Given the description of an element on the screen output the (x, y) to click on. 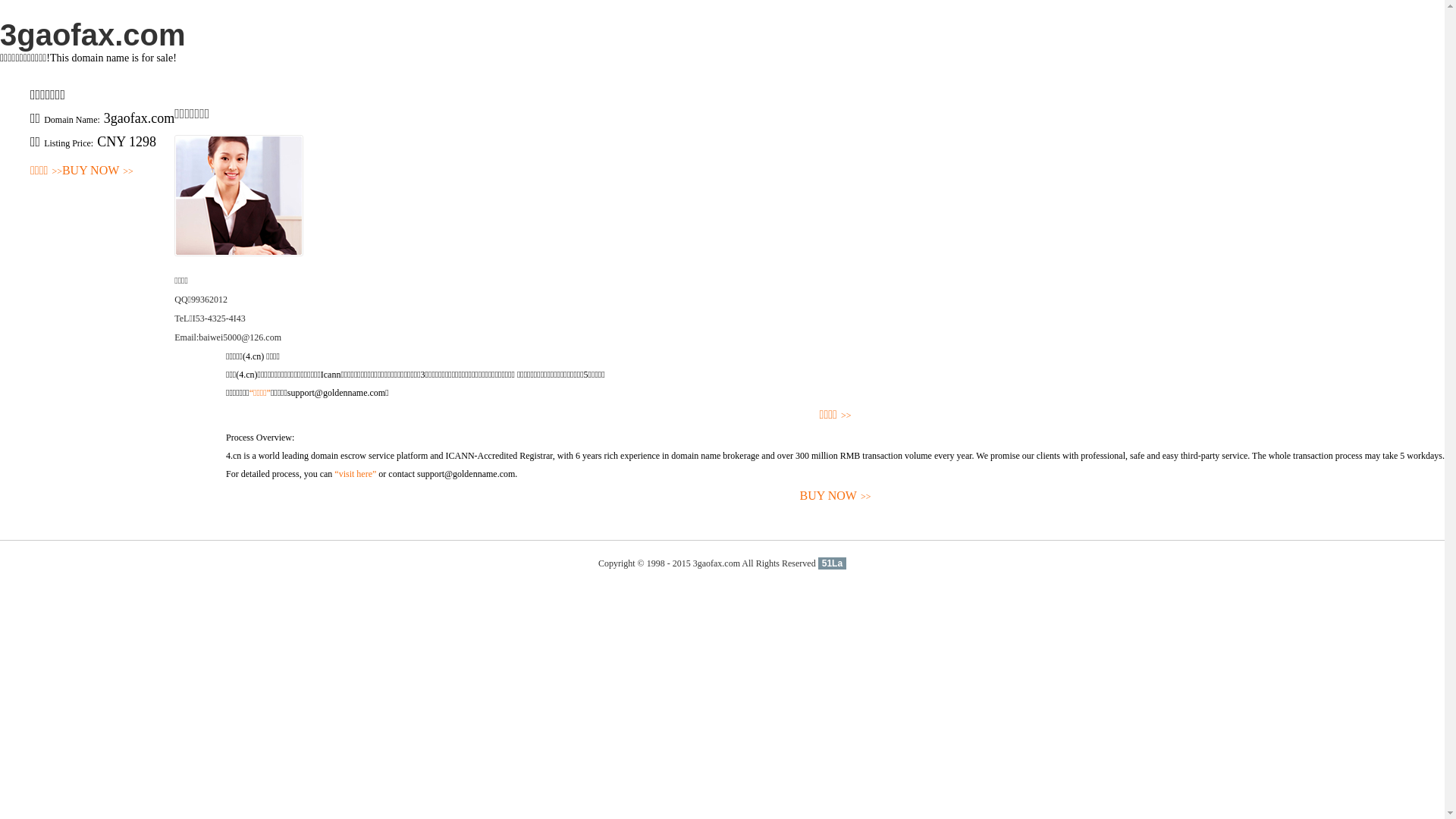
51La Element type: text (832, 563)
BUY NOW>> Element type: text (834, 496)
BUY NOW>> Element type: text (97, 170)
